Given the description of an element on the screen output the (x, y) to click on. 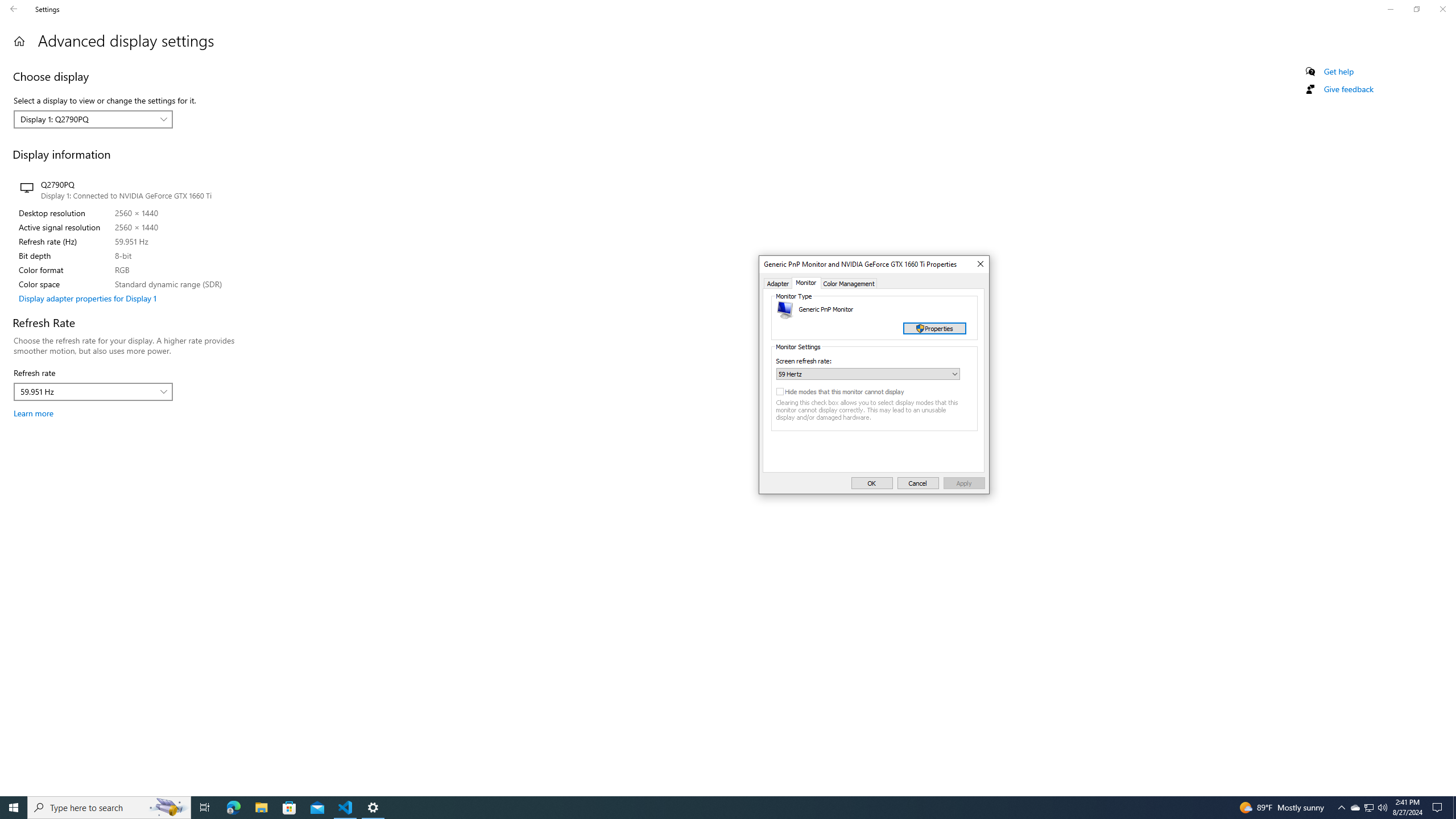
Type here to search (108, 807)
Notification Chevron (1341, 807)
Screen refresh rate: (867, 373)
Task View (204, 807)
Open (954, 373)
Properties (934, 327)
Apply (964, 482)
Close (979, 263)
Action Center, No new notifications (1439, 807)
Adapter (778, 283)
OK (871, 482)
Monitor (806, 283)
Color Management (848, 283)
